Given the description of an element on the screen output the (x, y) to click on. 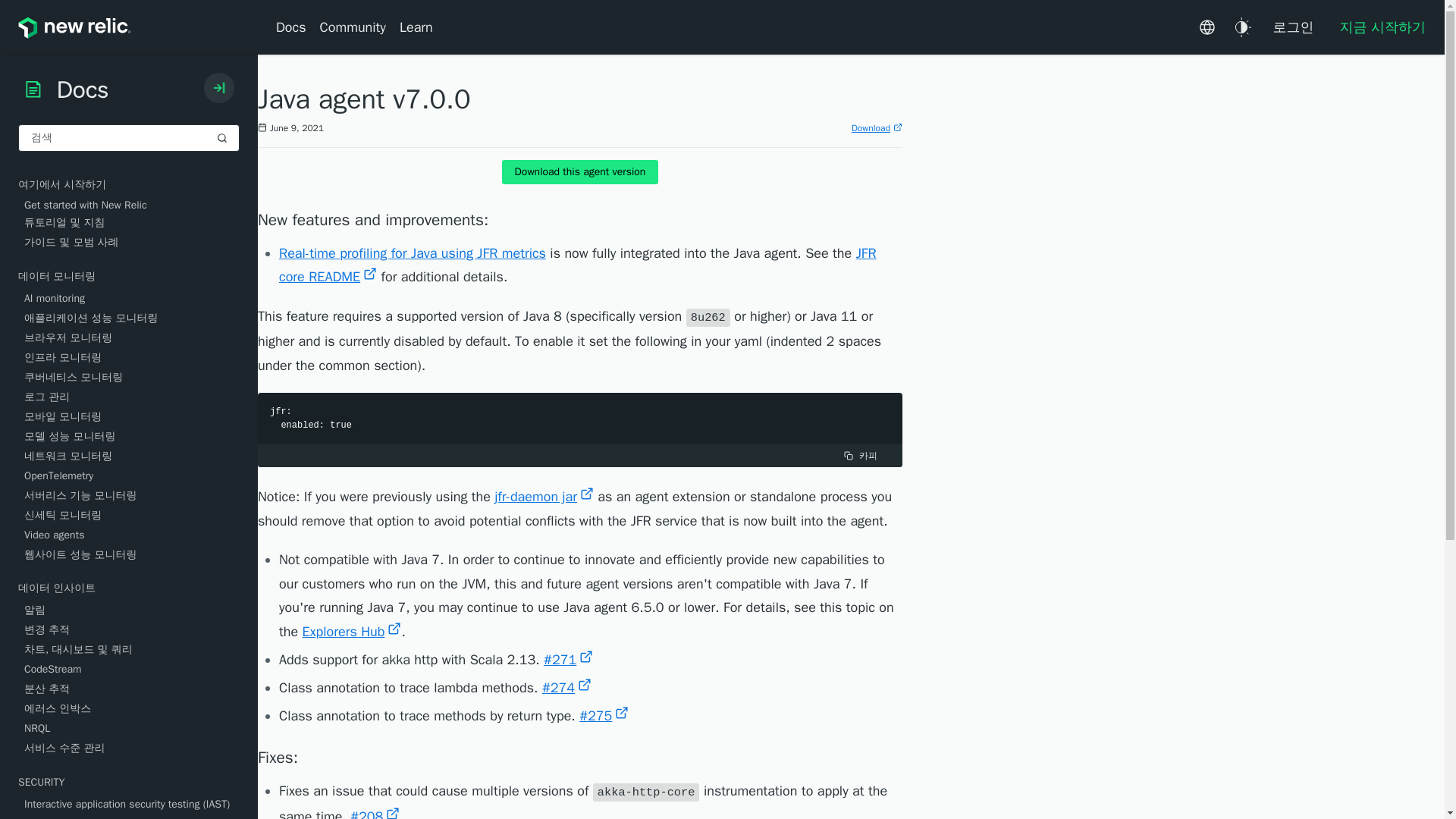
Community (353, 27)
Get started with New Relic (131, 204)
Learn (416, 27)
Docs (294, 27)
